Given the description of an element on the screen output the (x, y) to click on. 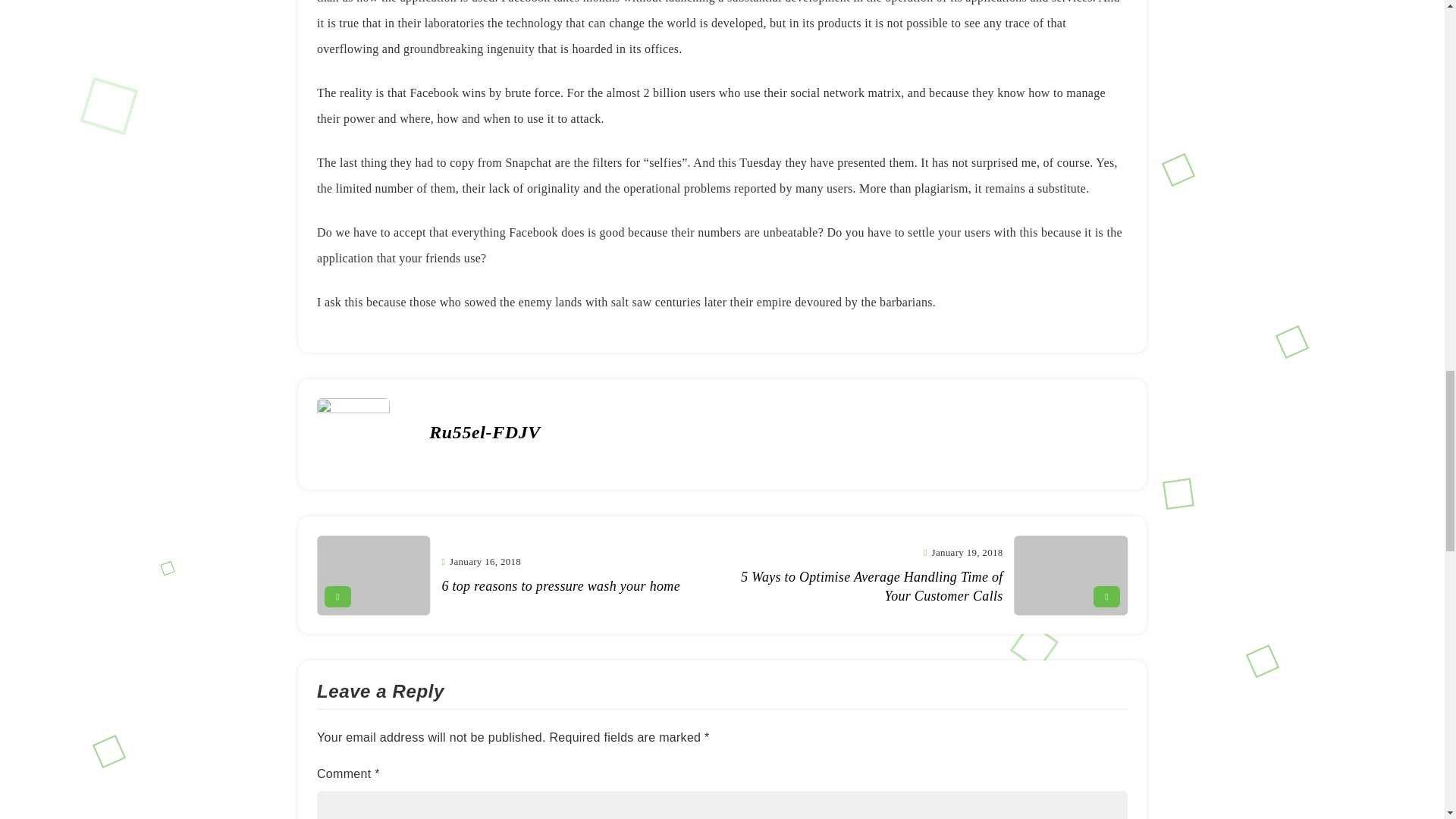
Ru55el-FDJV (511, 575)
